Given the description of an element on the screen output the (x, y) to click on. 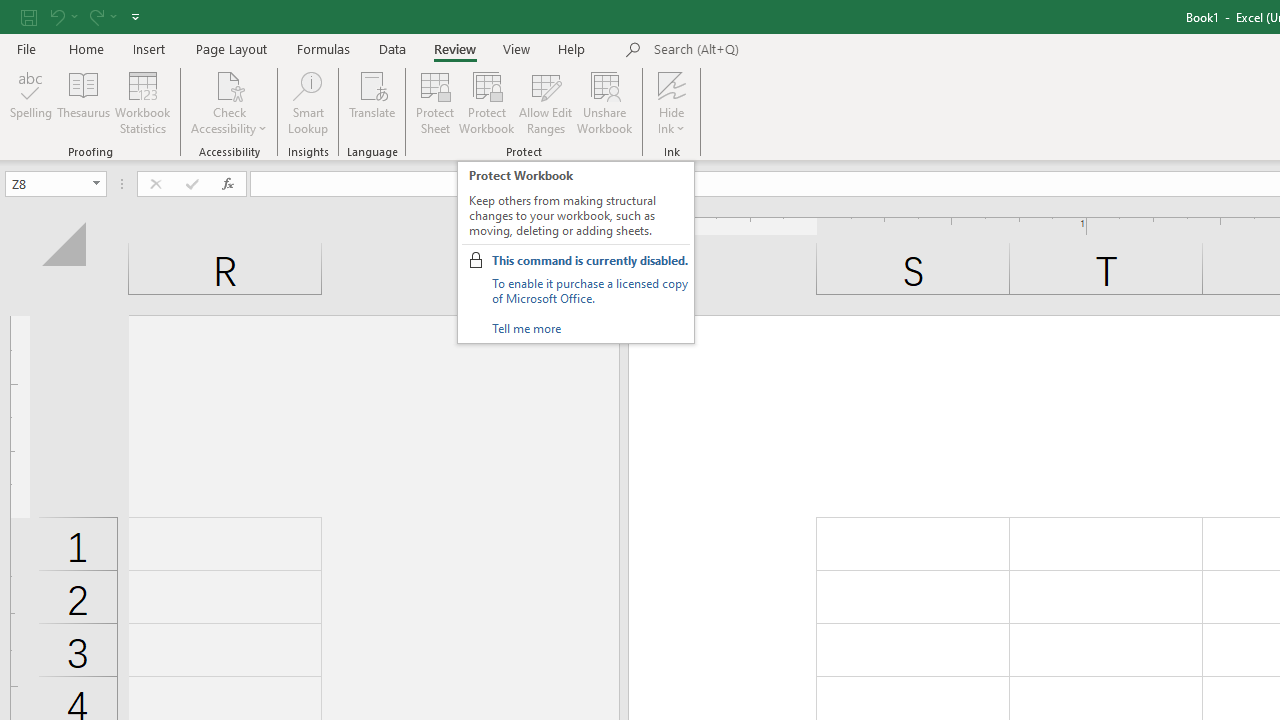
This command is currently disabled. (589, 260)
Unshare Workbook (604, 102)
Thesaurus... (83, 102)
Protect Sheet... (434, 102)
